Given the description of an element on the screen output the (x, y) to click on. 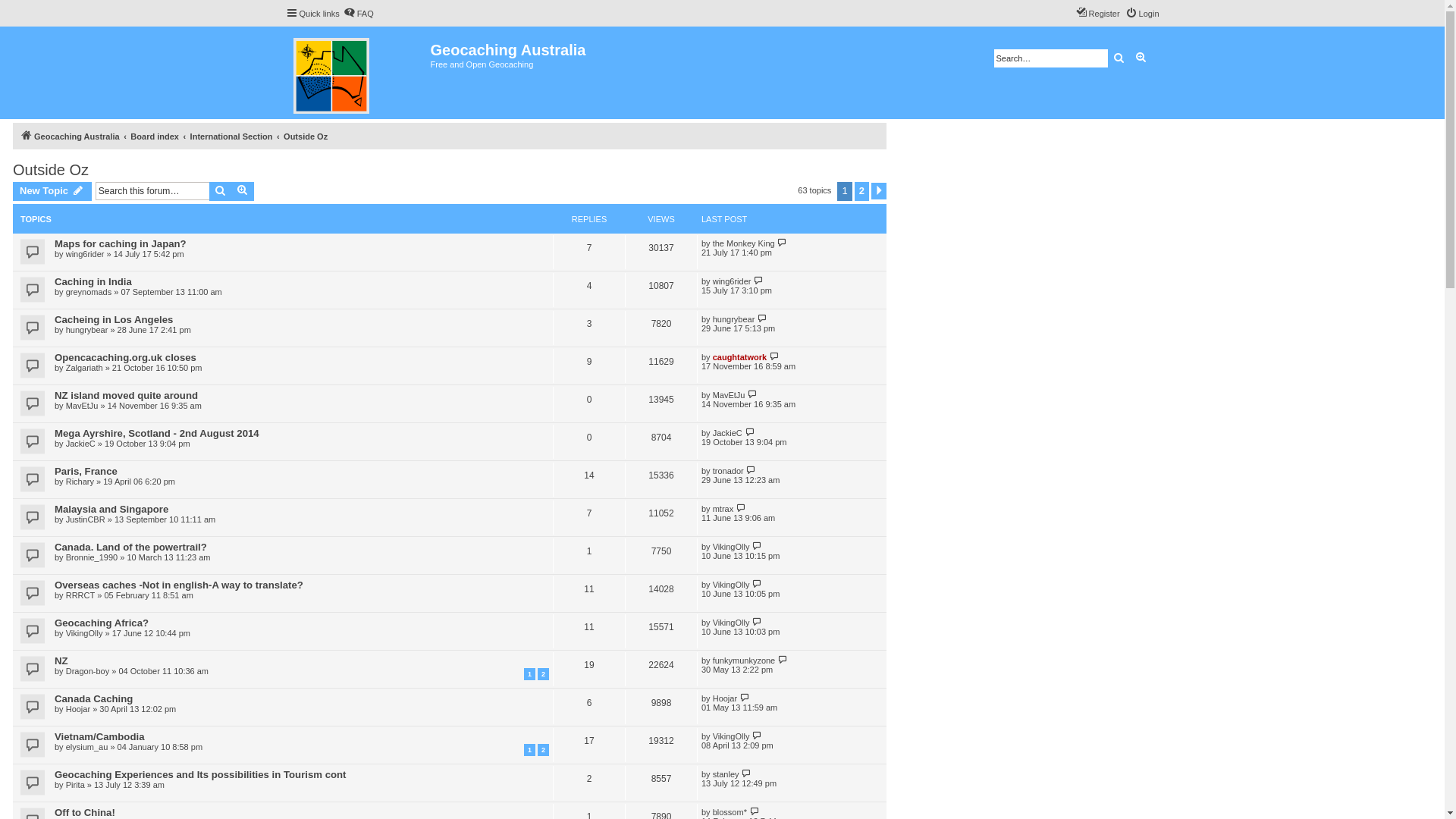
Richary Element type: text (79, 481)
Go to last post Element type: hover (756, 735)
2 Element type: text (861, 191)
wing6rider Element type: text (731, 280)
hungrybear Element type: text (733, 318)
Advanced search Element type: text (1140, 58)
Go to last post Element type: hover (751, 470)
caughtatwork Element type: text (739, 356)
Next Element type: text (878, 190)
Login Element type: text (1142, 13)
wing6rider Element type: text (84, 253)
FAQ Element type: text (358, 13)
2 Element type: text (543, 674)
Geocaching Experiences and Its possibilities in Tourism cont Element type: text (199, 774)
JackieC Element type: text (80, 443)
JustinCBR Element type: text (85, 519)
Register Element type: text (1097, 13)
Caching in India Element type: text (92, 281)
Go to last post Element type: hover (762, 318)
Board index Element type: text (154, 136)
Search for keywords Element type: hover (1050, 58)
Search Element type: text (220, 191)
Go to last post Element type: hover (756, 546)
Dragon-boy Element type: text (87, 670)
VikingOlly Element type: text (730, 622)
Go to last post Element type: hover (756, 584)
Go to last post Element type: hover (782, 660)
Mega Ayrshire, Scotland - 2nd August 2014 Element type: text (156, 433)
Quick links Element type: text (311, 13)
VikingOlly Element type: text (730, 546)
Canada Caching Element type: text (93, 698)
Geocaching Africa? Element type: text (101, 622)
Overseas caches -Not in english-A way to translate? Element type: text (178, 584)
Maps for caching in Japan? Element type: text (120, 243)
Go to last post Element type: hover (753, 394)
Paris, France Element type: text (85, 470)
hungrybear Element type: text (86, 329)
greynomads Element type: text (88, 291)
Bronnie_1990 Element type: text (91, 556)
Go to last post Element type: hover (782, 242)
mtrax Element type: text (723, 508)
Go to last post Element type: hover (750, 432)
Outside Oz Element type: text (50, 169)
VikingOlly Element type: text (730, 584)
Go to last post Element type: hover (740, 508)
blossom* Element type: text (729, 811)
1 Element type: text (529, 749)
MavEtJu Element type: text (728, 394)
1 Element type: text (529, 674)
VikingOlly Element type: text (730, 735)
the Monkey King Element type: text (743, 242)
Opencacaching.org.uk closes Element type: text (125, 357)
NZ Element type: text (61, 660)
Zalgariath Element type: text (84, 367)
JackieC Element type: text (727, 432)
NZ island moved quite around Element type: text (125, 395)
Hoojar Element type: text (724, 697)
Pirita Element type: text (74, 784)
elysium_au Element type: text (86, 746)
Go to last post Element type: hover (747, 773)
2 Element type: text (543, 749)
Off to China! Element type: text (84, 812)
Canada. Land of the powertrail? Element type: text (130, 546)
tronador Element type: text (727, 470)
Go to last post Element type: hover (754, 811)
Advanced search Element type: text (243, 191)
Cacheing in Los Angeles Element type: text (113, 319)
International Section Element type: text (231, 136)
Go to last post Element type: hover (756, 622)
New Topic Element type: text (51, 191)
Hoojar Element type: text (77, 708)
Go to last post Element type: hover (744, 697)
Geocaching Australia Element type: hover (357, 72)
Go to last post Element type: hover (759, 280)
Search Element type: text (1118, 58)
VikingOlly Element type: text (84, 632)
MavEtJu Element type: text (81, 405)
Vietnam/Cambodia Element type: text (99, 736)
stanley Element type: text (725, 773)
Outside Oz Element type: text (305, 136)
funkymunkyzone Element type: text (743, 660)
RRRCT Element type: text (80, 594)
Go to last post Element type: hover (774, 356)
Malaysia and Singapore Element type: text (111, 508)
Geocaching Australia Element type: text (69, 136)
